Given the description of an element on the screen output the (x, y) to click on. 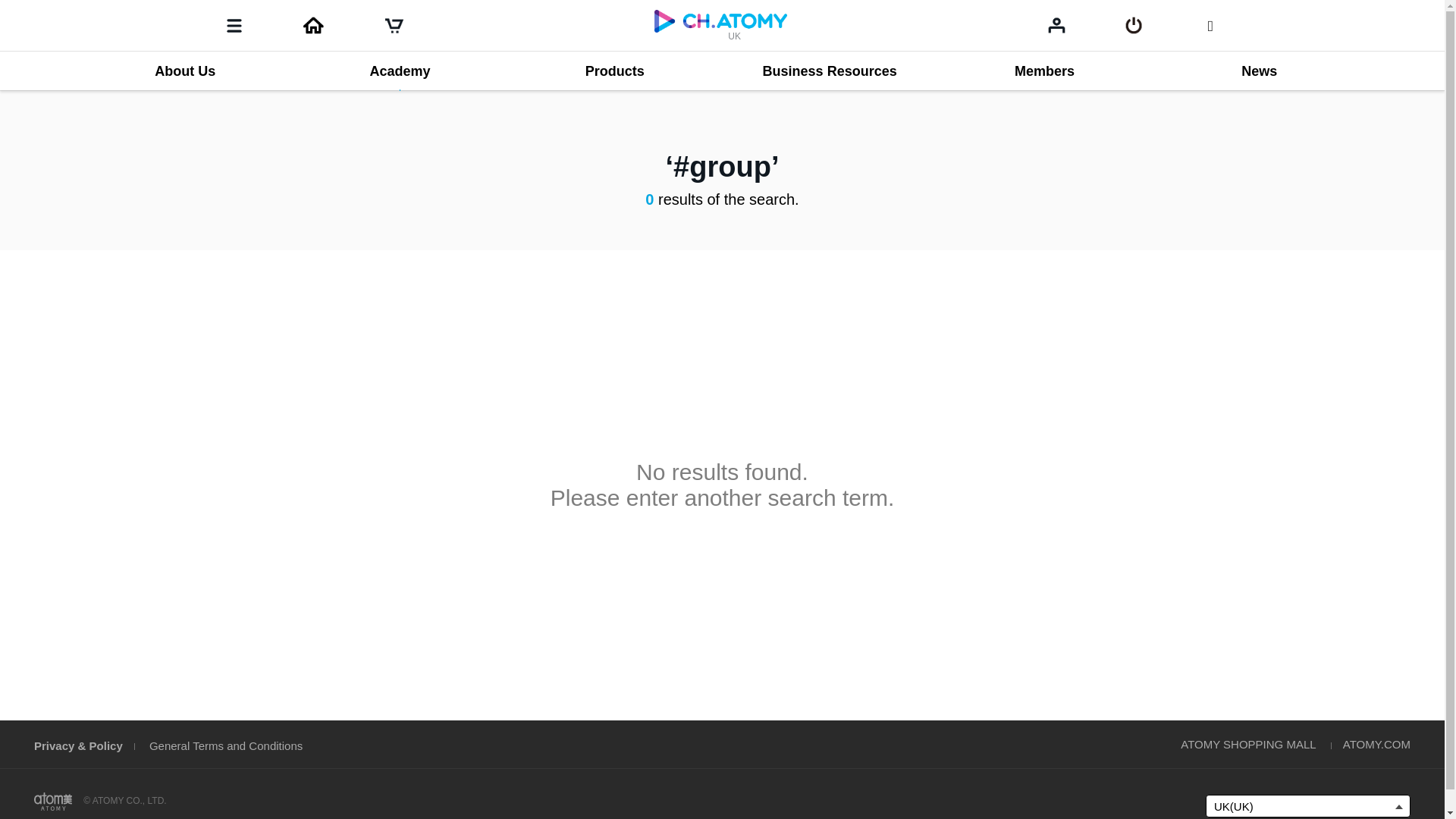
About Us (184, 70)
Products (614, 70)
Business Resources (829, 70)
UK (720, 24)
Academy (399, 70)
Members (1044, 70)
